Given the description of an element on the screen output the (x, y) to click on. 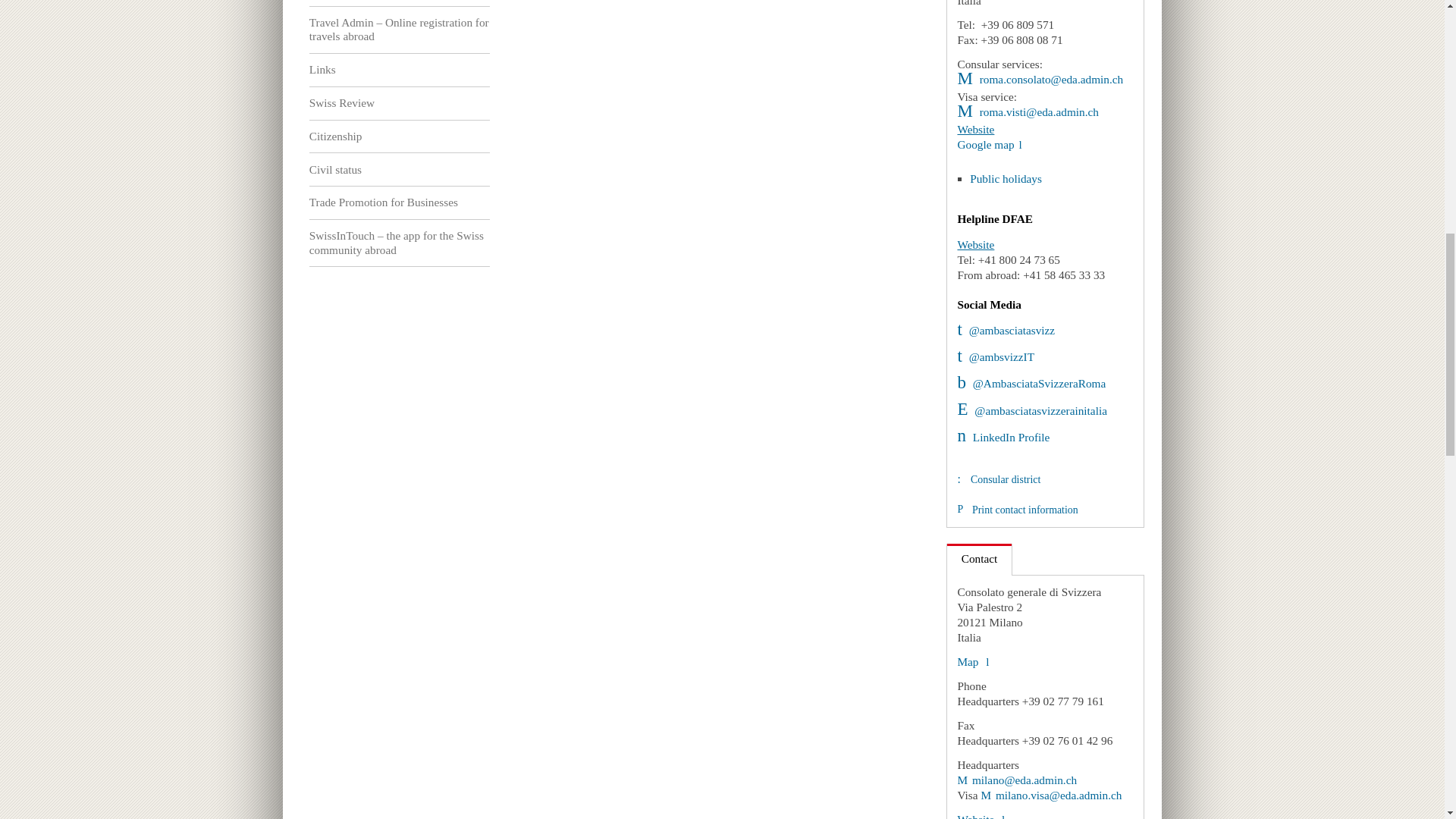
External Link (1016, 779)
External Link (1030, 382)
External Link (1039, 78)
External Link (989, 144)
External Link (1031, 410)
External Link (972, 661)
External Link (1027, 111)
External Link (1005, 329)
External Link (994, 356)
External Link (1002, 436)
